Given the description of an element on the screen output the (x, y) to click on. 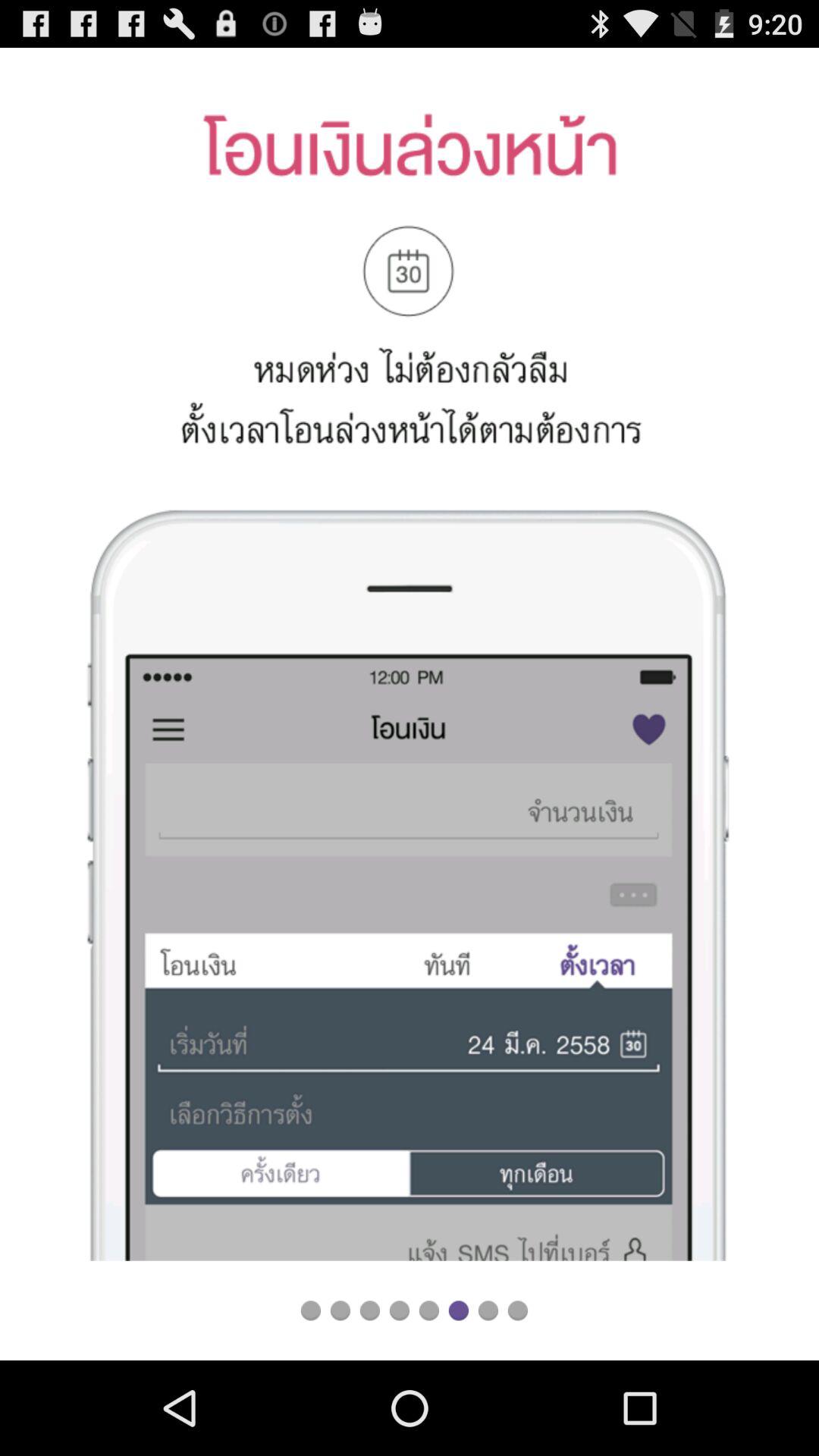
scroll forward (369, 1310)
